Given the description of an element on the screen output the (x, y) to click on. 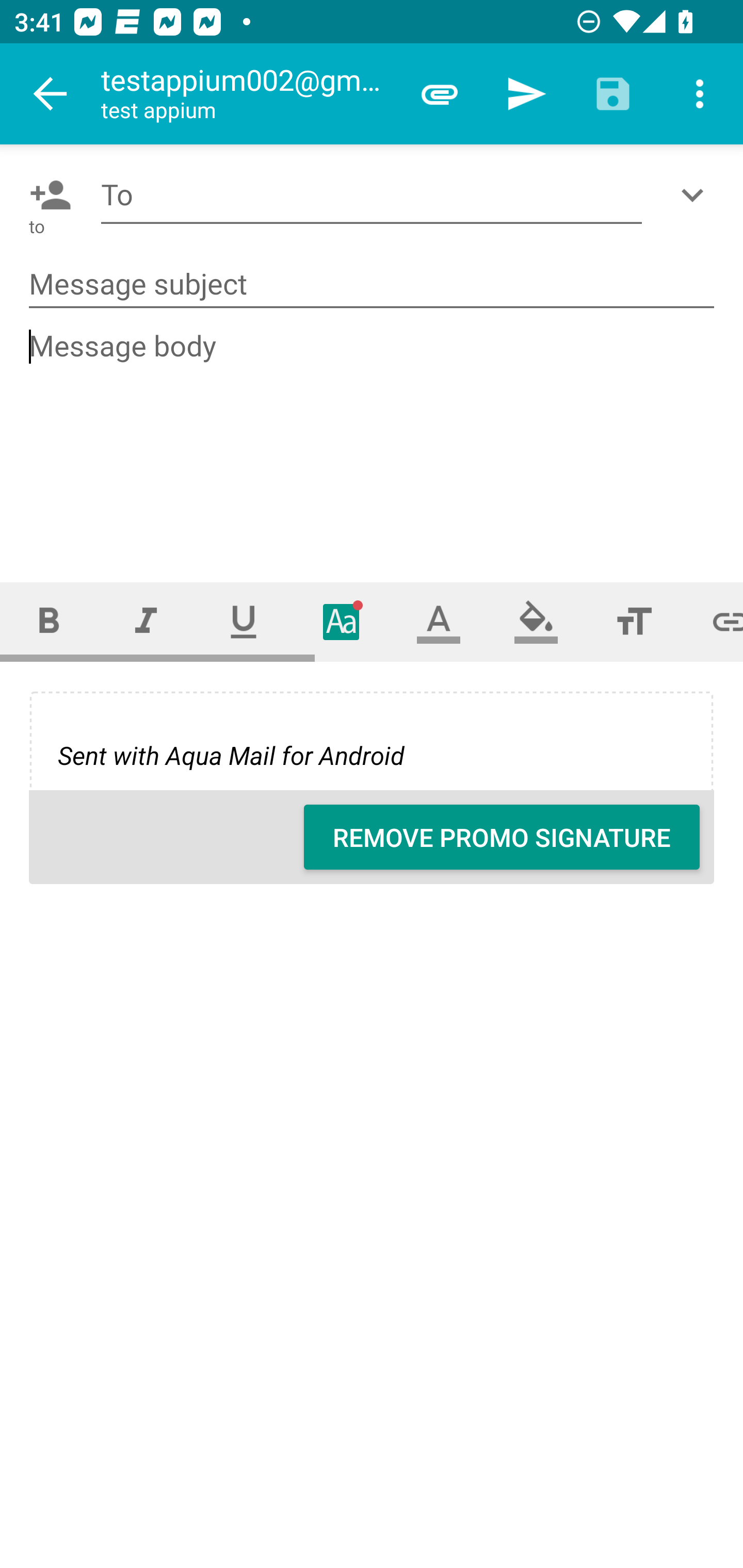
Navigate up (50, 93)
testappium002@gmail.com test appium (248, 93)
Attach (439, 93)
Send (525, 93)
Save (612, 93)
More options (699, 93)
Pick contact: To (46, 195)
Show/Add CC/BCC (696, 195)
To (371, 195)
Message subject (371, 284)
Message body (372, 438)
Bold (48, 621)
Italic (145, 621)
Underline (243, 621)
Typeface (font) (341, 621)
Text color (438, 621)
Fill color (536, 621)
Font size (633, 621)
Set link (712, 621)
REMOVE PROMO SIGNATURE (501, 837)
